Given the description of an element on the screen output the (x, y) to click on. 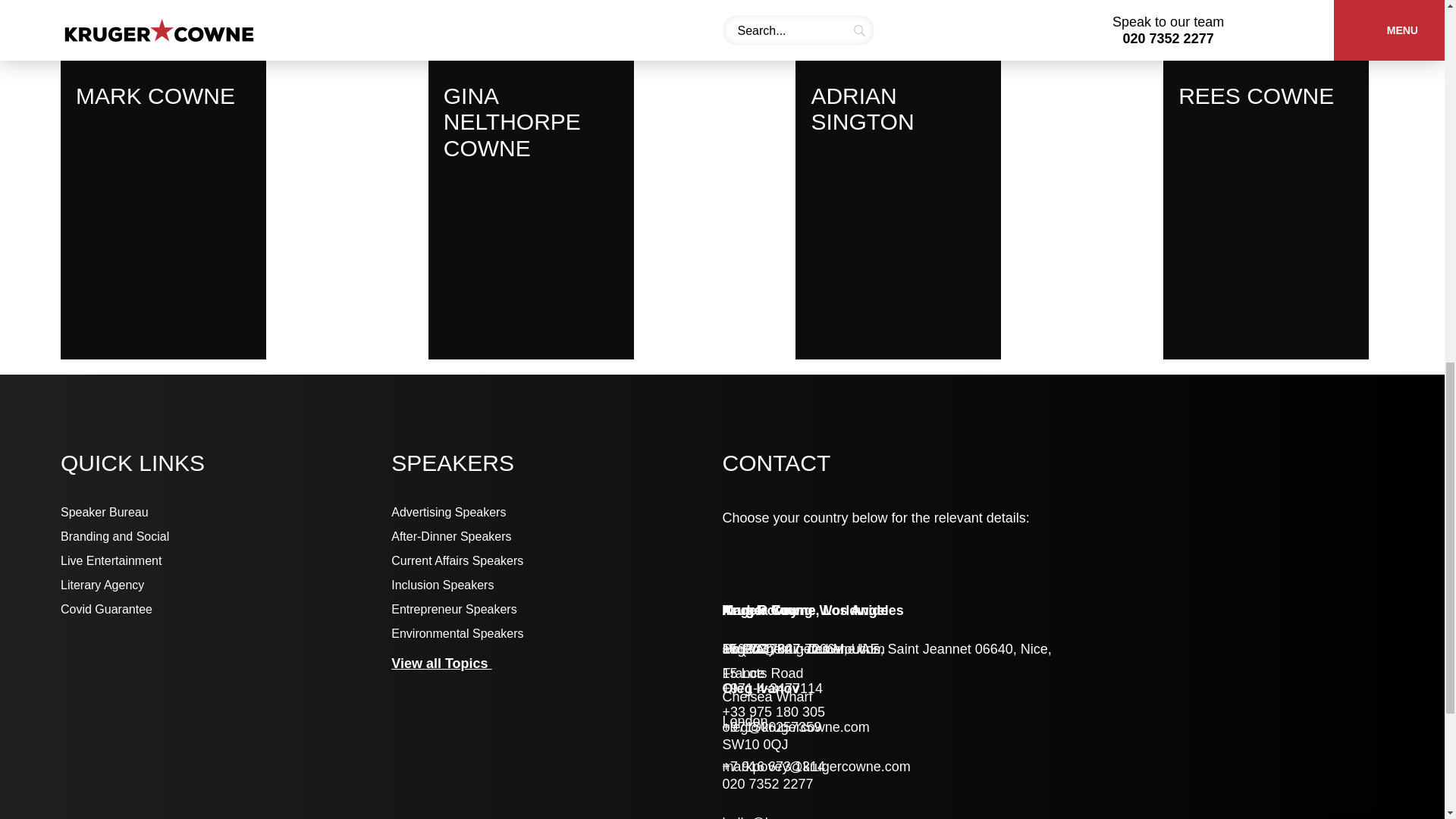
Entrepreneur Speakers (556, 609)
Your Shortlist (1370, 25)
Environmental Speakers (556, 633)
Current Affairs Speakers (556, 561)
Branding and Social (226, 536)
020 7352 2277 (767, 784)
Covid Guarantee (226, 609)
After-Dinner Speakers (556, 536)
Speaker Bureau (226, 512)
Live Entertainment (226, 561)
Advertising Speakers (556, 512)
Inclusion Speakers (556, 585)
View all Topics (448, 663)
Literary Agency (226, 585)
